Given the description of an element on the screen output the (x, y) to click on. 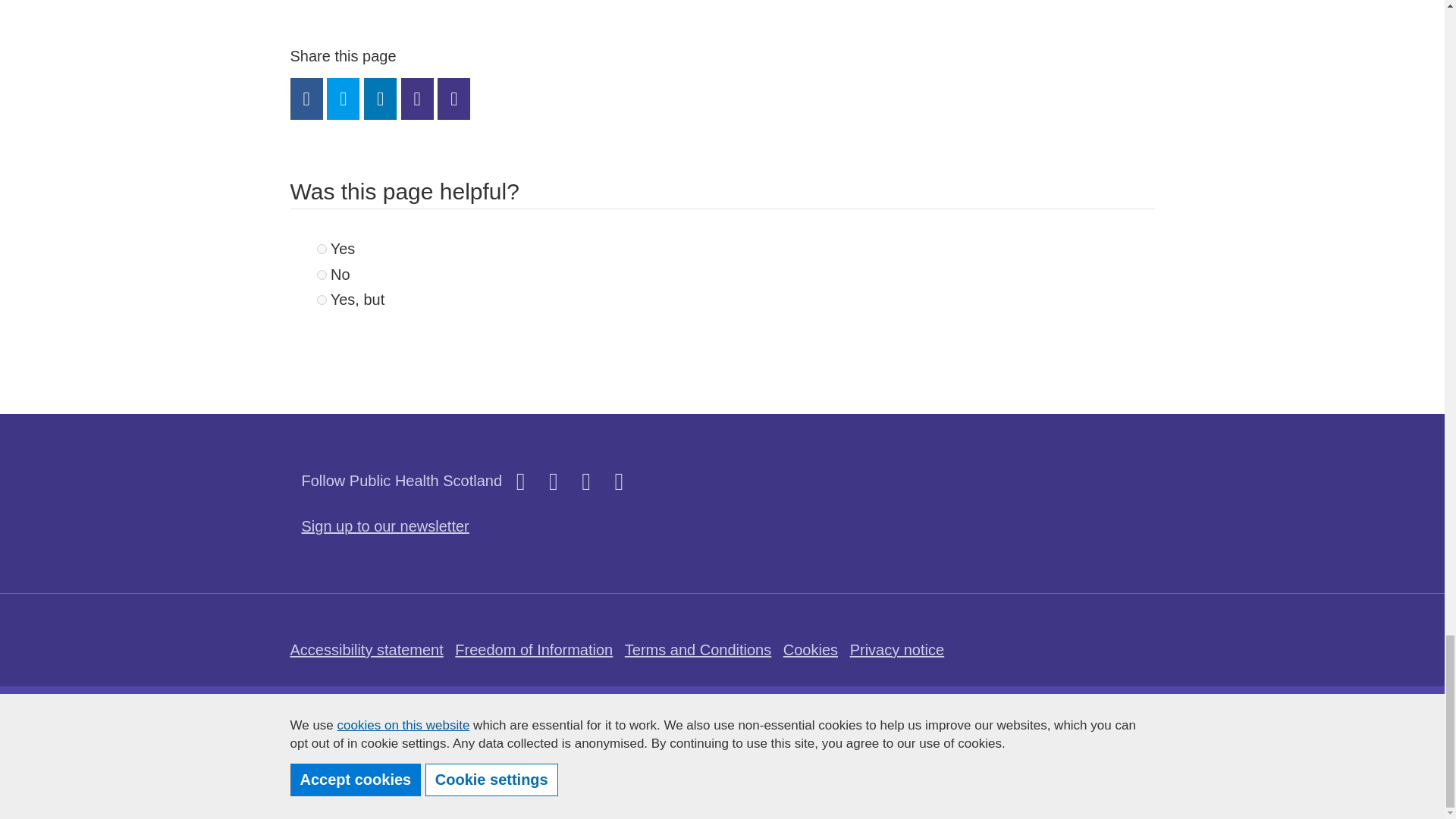
No (321, 275)
Yes (321, 248)
Yes, but (321, 299)
